Given the description of an element on the screen output the (x, y) to click on. 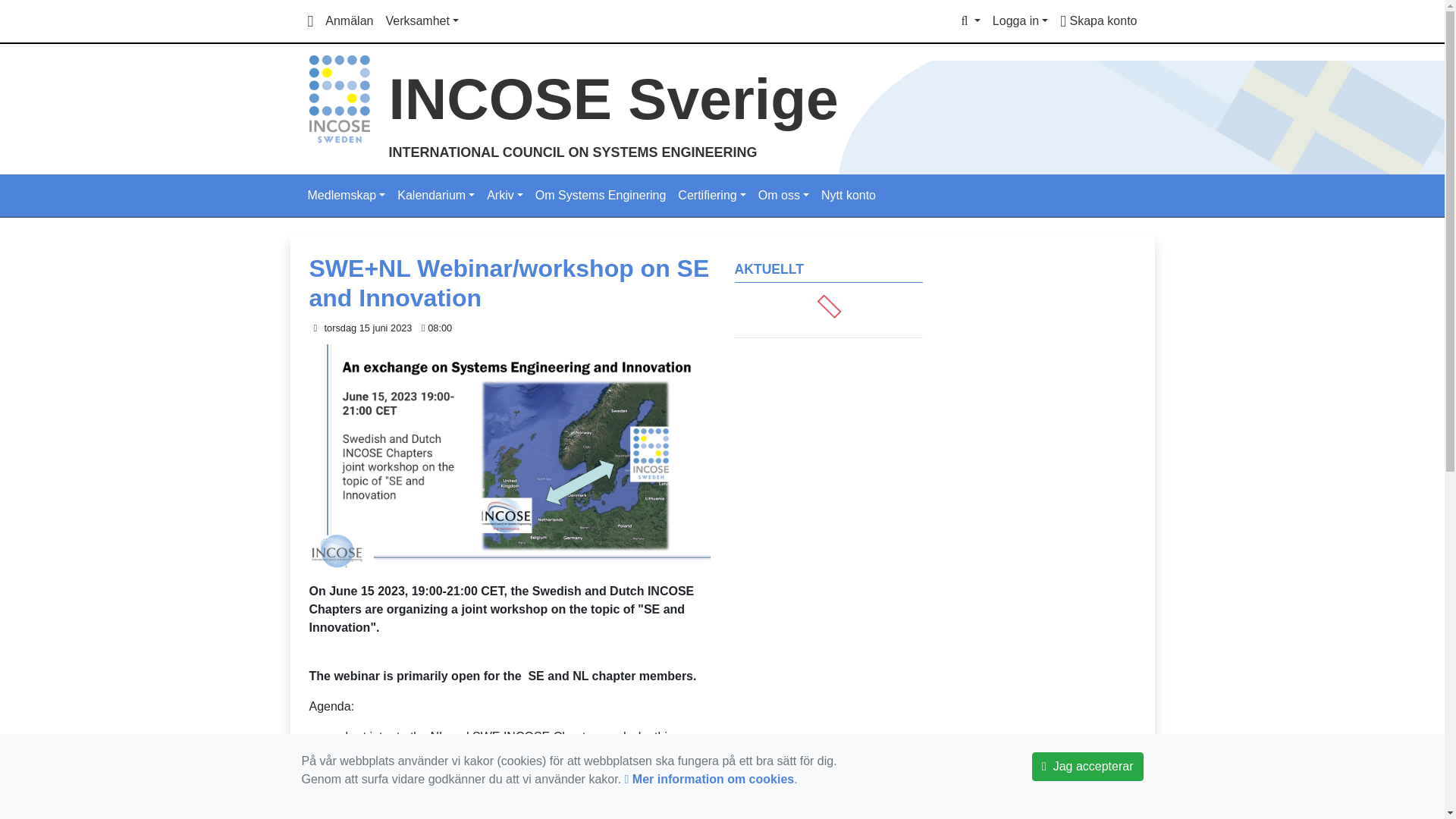
Skapa konto (1098, 20)
Verksamhet (421, 20)
Medlemskap (346, 195)
Logga in (1020, 20)
INCOSE Sverige (613, 98)
Arkiv (504, 195)
Logga in (1020, 20)
Skapa konto (1098, 20)
INCOSE Sverige (338, 97)
Medlemskap (346, 195)
Kalendarium (435, 195)
Kalendarium (435, 195)
INCOSE Sverige (613, 98)
